Given the description of an element on the screen output the (x, y) to click on. 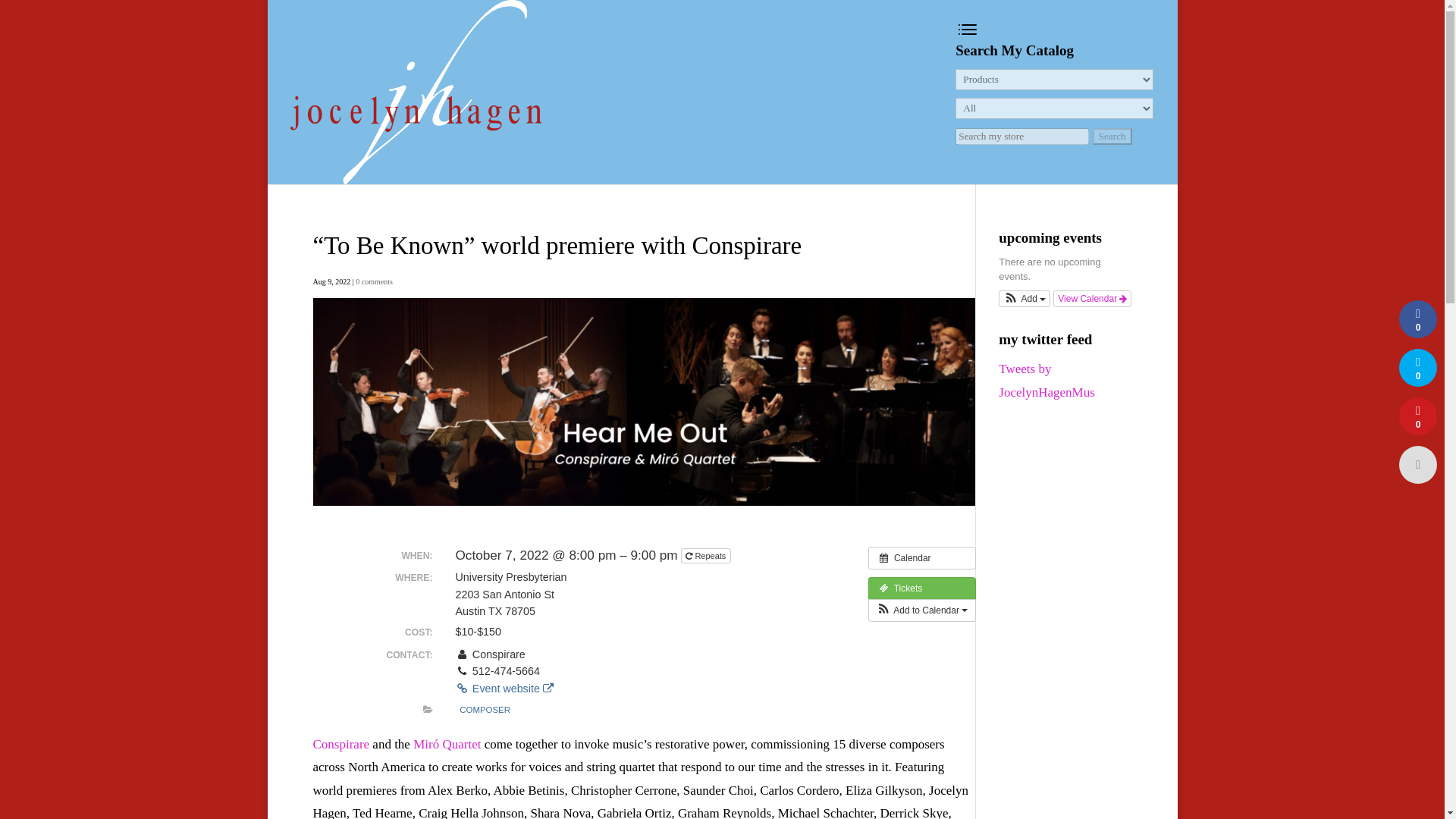
Tickets (921, 588)
Repeats (705, 555)
COMPOSER (485, 710)
Tickets (921, 588)
View all events (921, 558)
Event website (504, 688)
Calendar (921, 558)
Search (1111, 135)
Conspirare (341, 744)
Search (1111, 135)
0 comments (374, 281)
Categories (427, 709)
